Given the description of an element on the screen output the (x, y) to click on. 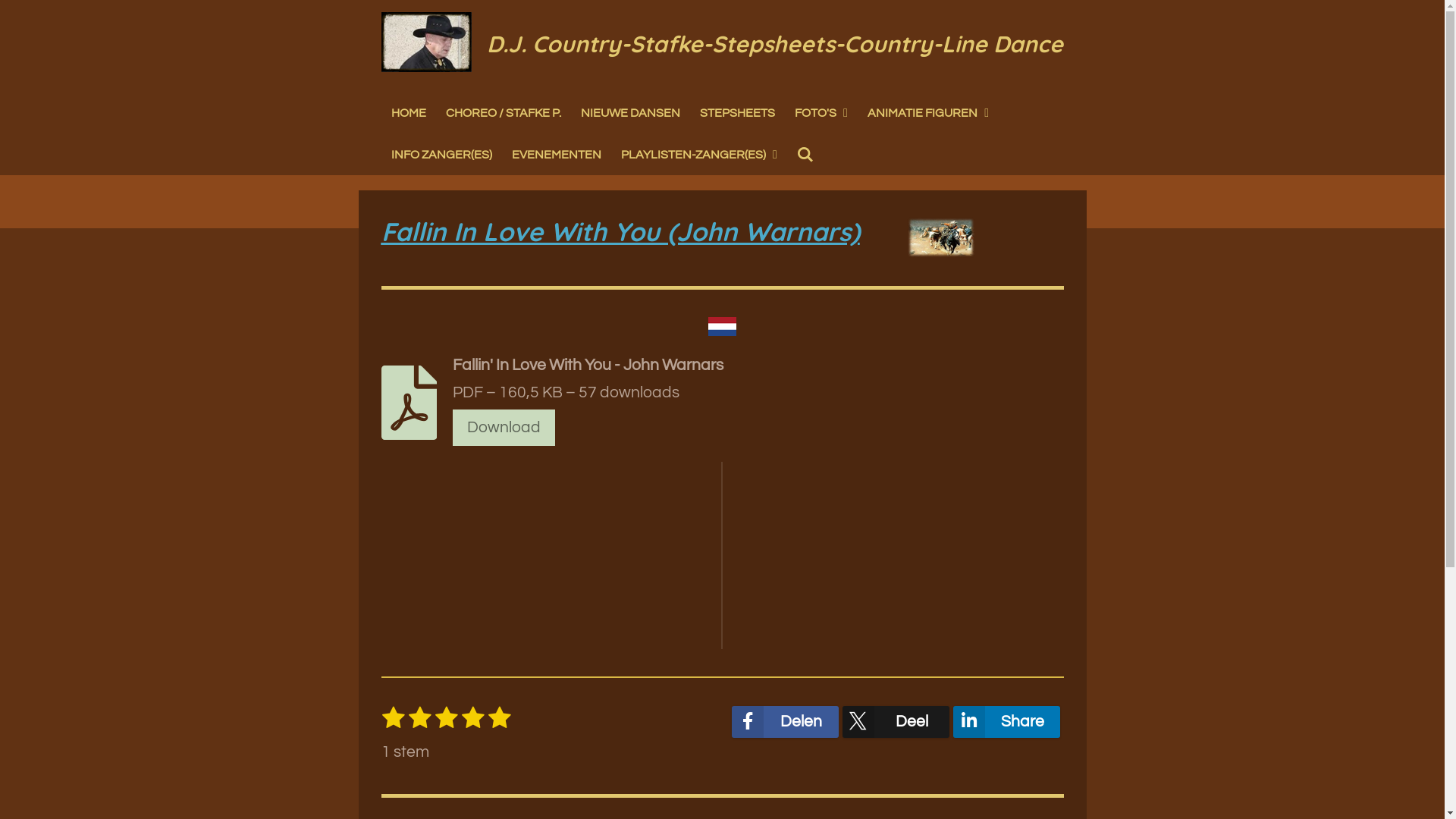
Fallin In Love With You (John Warnars) Element type: text (619, 231)
INFO ZANGER(ES) Element type: text (440, 154)
ANIMATIE FIGUREN Element type: text (927, 113)
EVENEMENTEN Element type: text (556, 154)
Delen Element type: text (784, 721)
PLAYLISTEN-ZANGER(ES) Element type: text (699, 154)
Stemmen Element type: text (511, 705)
Zoeken Element type: hover (805, 154)
NIEUWE DANSEN Element type: text (629, 113)
CHOREO / STAFKE P. Element type: text (502, 113)
D.J. Country-Stafke-Stepsheets-Country-Line Dance Element type: text (774, 42)
Download Element type: text (503, 427)
STEPSHEETS Element type: text (737, 113)
Deel Element type: text (895, 721)
HOME Element type: text (407, 113)
FOTO'S Element type: text (820, 113)
Country Website Stafke Peeters Element type: hover (425, 42)
Share Element type: text (1006, 721)
